Given the description of an element on the screen output the (x, y) to click on. 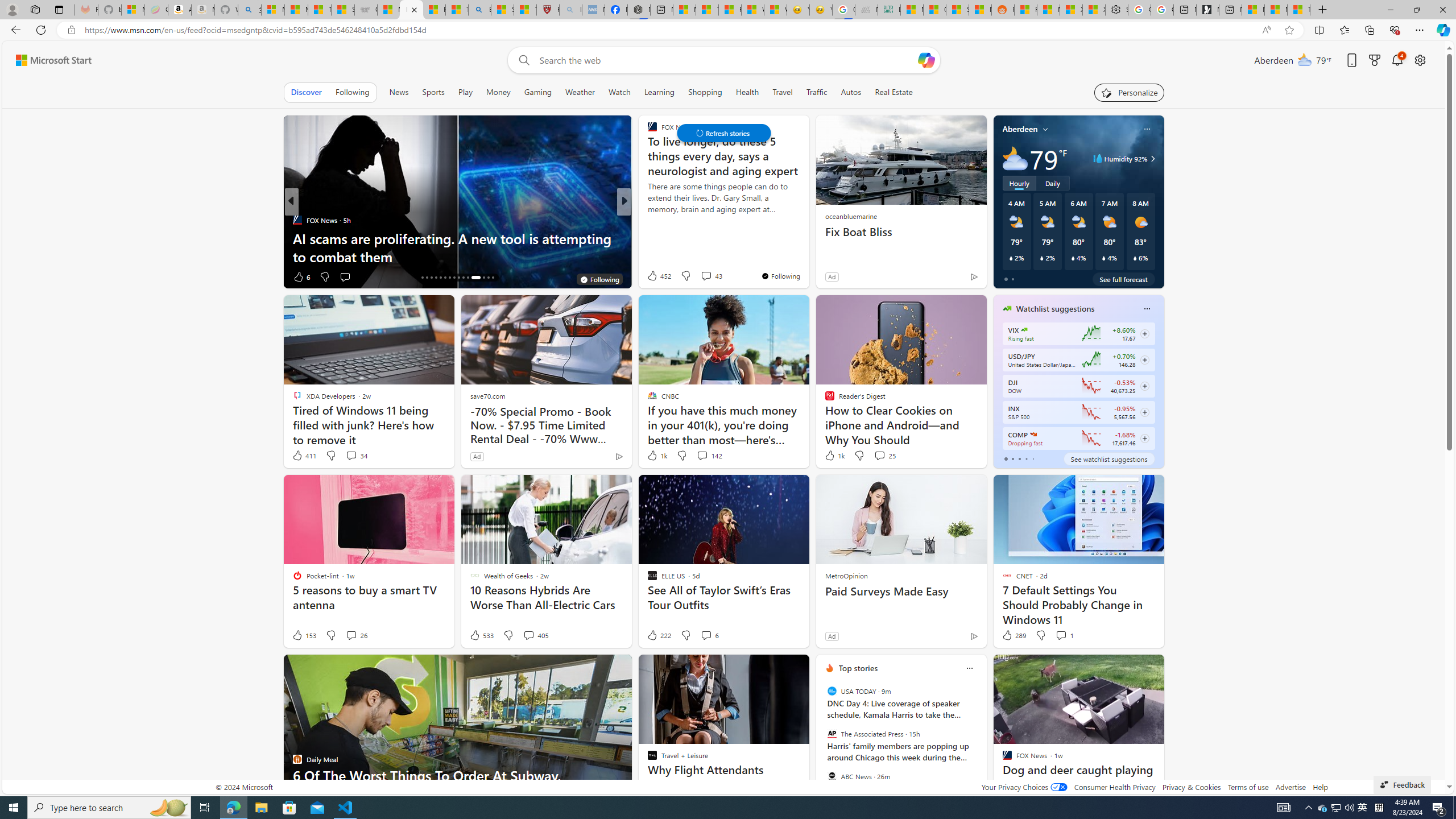
View comments 142 Comment (701, 455)
AutomationID: tab-28 (483, 277)
View comments 89 Comment (6, 276)
oceanbluemarine (850, 215)
Class: control (723, 132)
View comments 6 Comment (709, 634)
6 Like (301, 276)
AutomationID: tab-16 (422, 277)
